Given the description of an element on the screen output the (x, y) to click on. 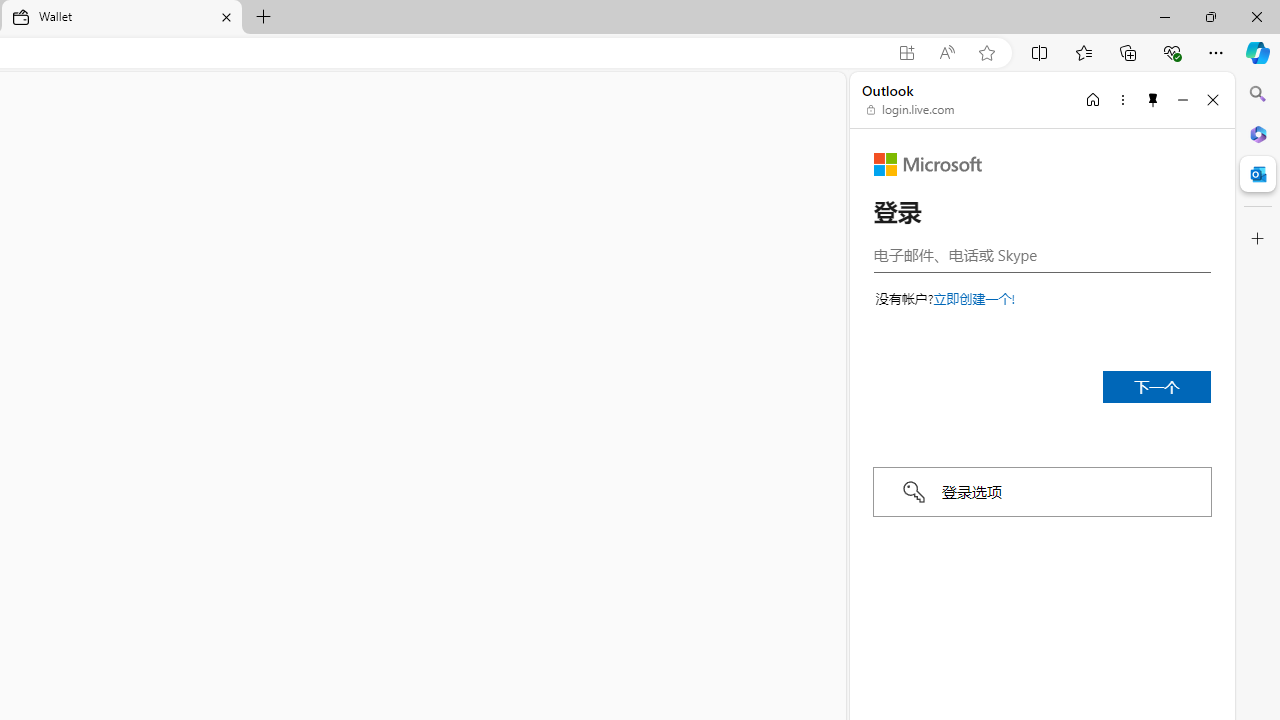
login.live.com (911, 110)
Microsoft (927, 164)
App available. Install Microsoft Wallet (906, 53)
